Given the description of an element on the screen output the (x, y) to click on. 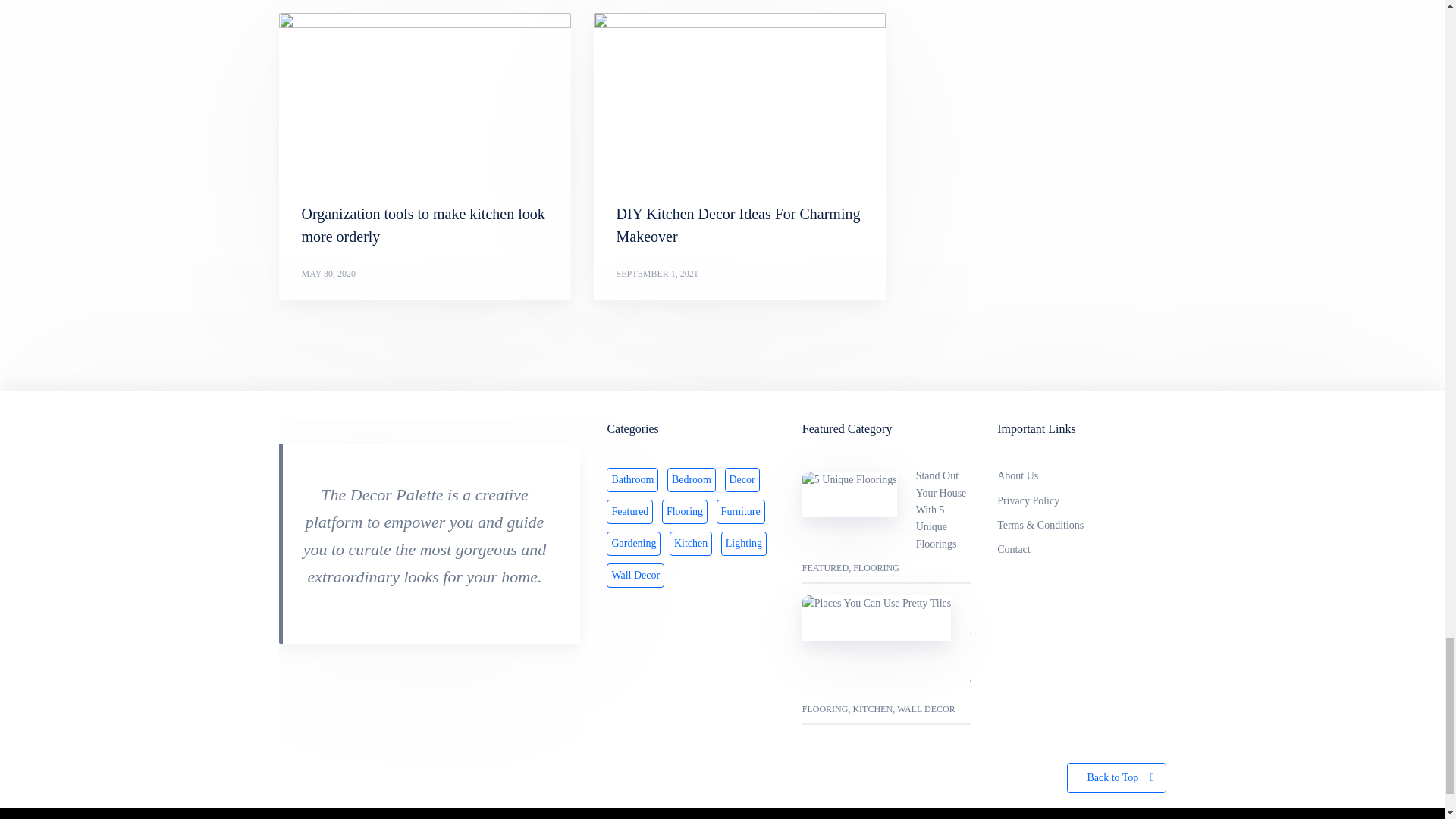
Organization tools to make kitchen look more orderly (424, 96)
DIY Kitchen Decor Ideas For Charming Makeover (737, 224)
DIY Kitchen Decor Ideas For Charming Makeover (738, 96)
Organization tools to make kitchen look more orderly (422, 224)
DIY Kitchen Decor Ideas For Charming Makeover (737, 224)
Organization tools to make kitchen look more orderly (422, 224)
